Given the description of an element on the screen output the (x, y) to click on. 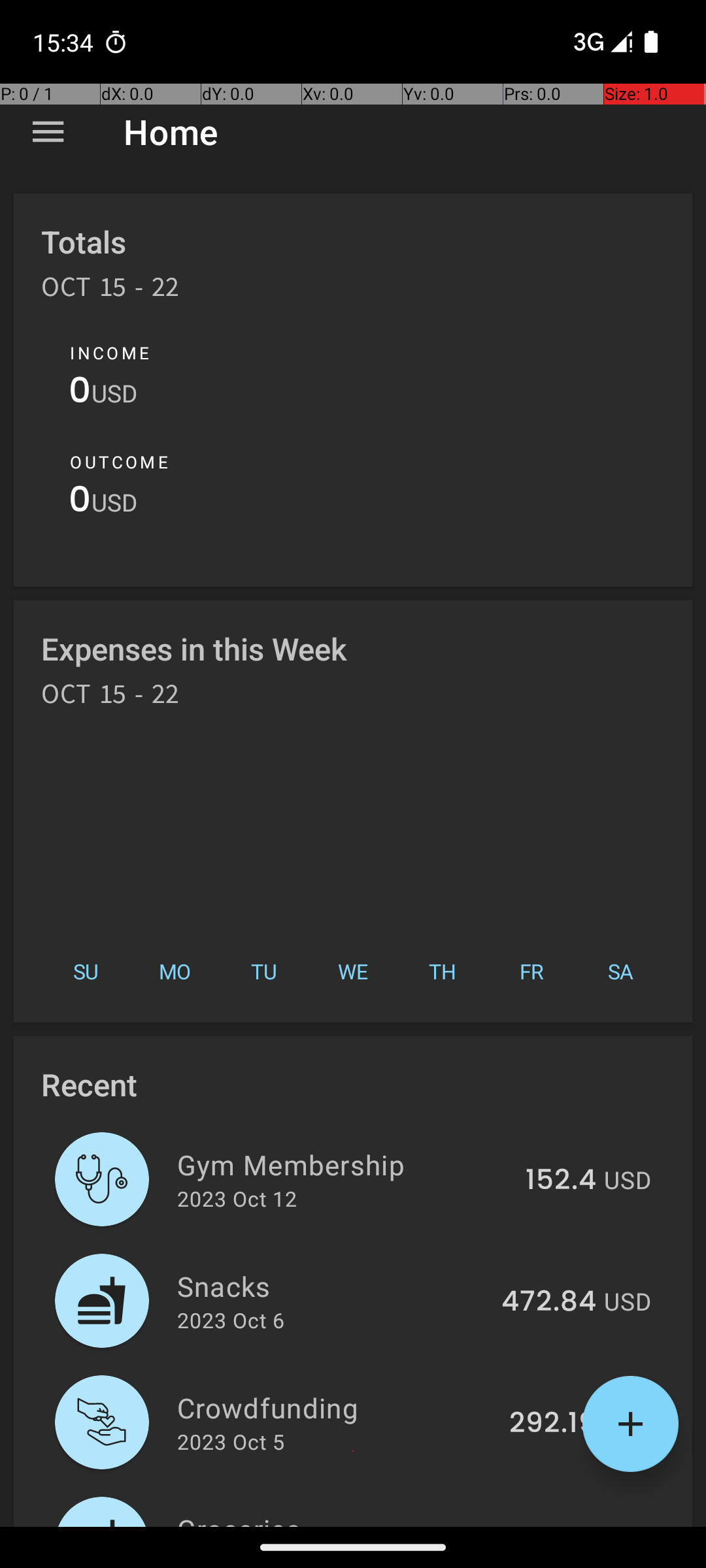
Gym Membership Element type: android.widget.TextView (343, 1164)
152.4 Element type: android.widget.TextView (560, 1180)
Snacks Element type: android.widget.TextView (331, 1285)
472.84 Element type: android.widget.TextView (548, 1301)
Crowdfunding Element type: android.widget.TextView (335, 1407)
2023 Oct 5 Element type: android.widget.TextView (230, 1441)
292.19 Element type: android.widget.TextView (552, 1423)
55.95 Element type: android.widget.TextView (555, 1524)
